Given the description of an element on the screen output the (x, y) to click on. 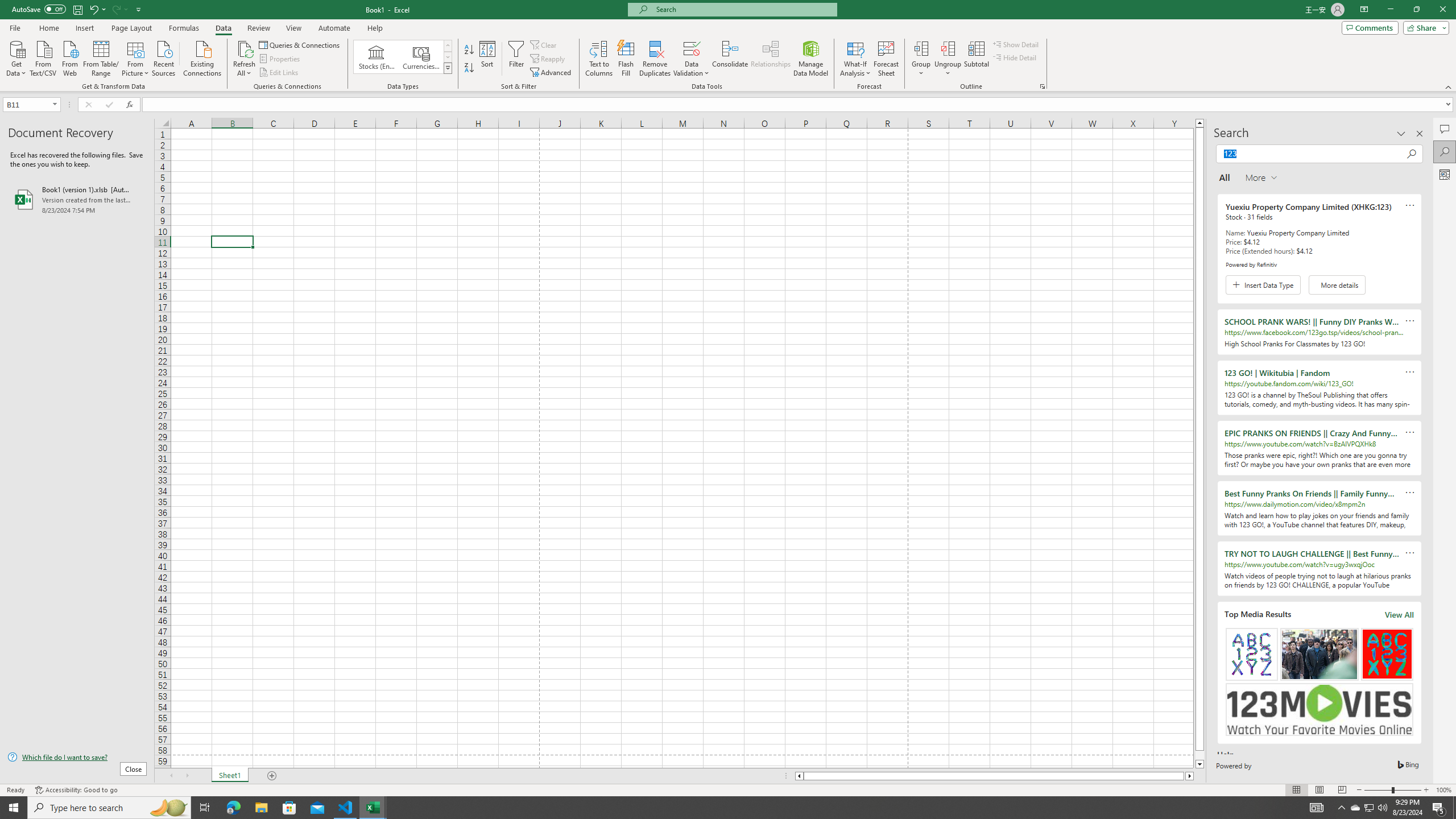
Data (223, 28)
Reapply (548, 58)
Refresh All (244, 48)
Ribbon Display Options (1364, 9)
Scroll Right (187, 775)
Column right (1190, 775)
Subtotal (976, 58)
Class: NetUIScrollBar (994, 775)
Get Data (16, 57)
Data Validation... (691, 58)
